Given the description of an element on the screen output the (x, y) to click on. 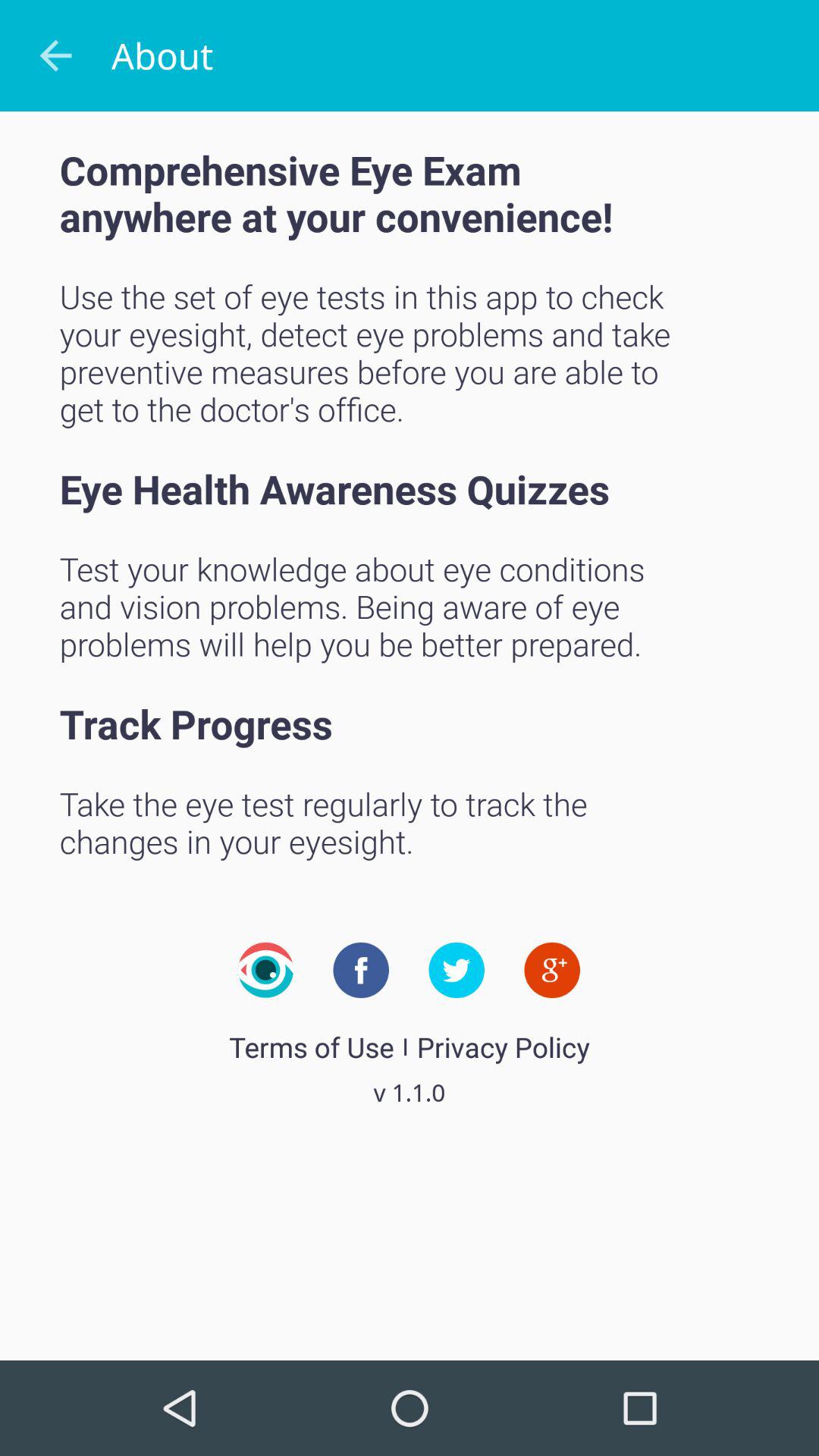
launch item above privacy policy item (552, 970)
